Given the description of an element on the screen output the (x, y) to click on. 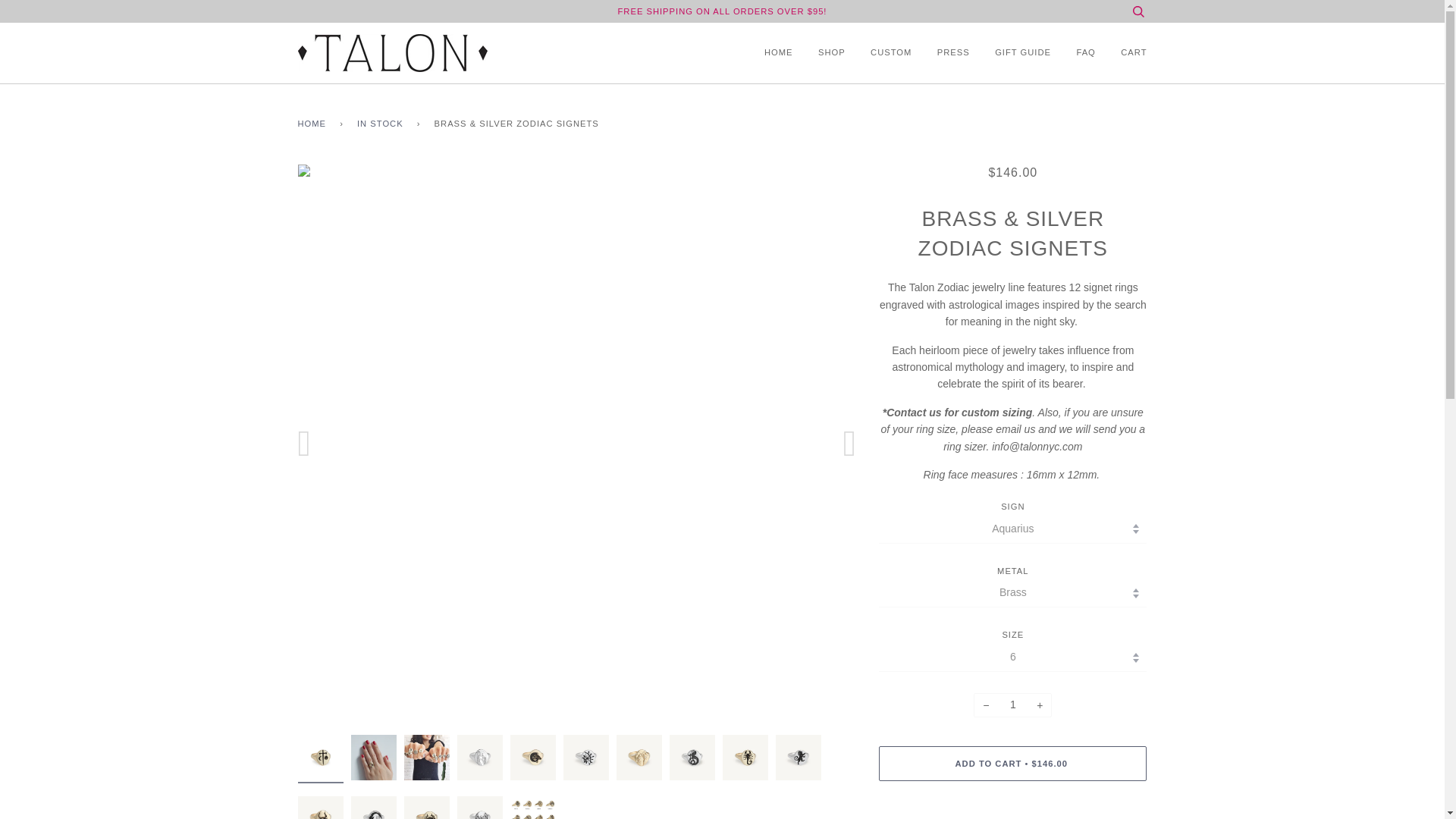
PRESS (941, 53)
SHOP (819, 53)
CUSTOM (879, 53)
Search (1137, 11)
1 (1012, 704)
CART (1122, 53)
Back to the frontpage (314, 124)
FAQ (1073, 53)
HOME (775, 53)
GIFT GUIDE (1011, 53)
